Given the description of an element on the screen output the (x, y) to click on. 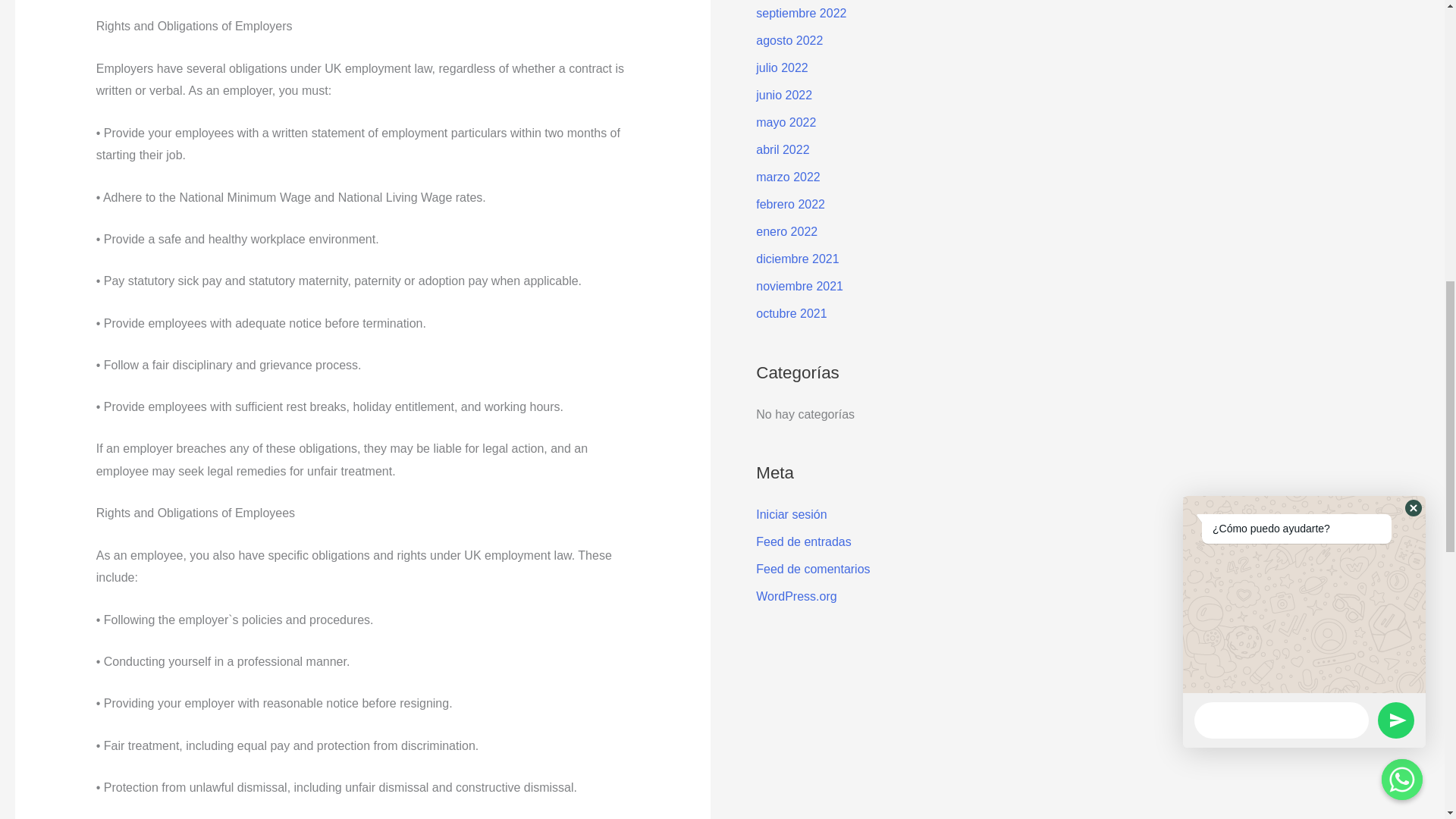
enero 2022 (785, 231)
agosto 2022 (788, 40)
noviembre 2021 (799, 286)
marzo 2022 (788, 176)
julio 2022 (781, 67)
febrero 2022 (790, 204)
abril 2022 (782, 149)
octubre 2021 (791, 313)
mayo 2022 (785, 122)
septiembre 2022 (800, 12)
diciembre 2021 (796, 258)
junio 2022 (783, 94)
